Given the description of an element on the screen output the (x, y) to click on. 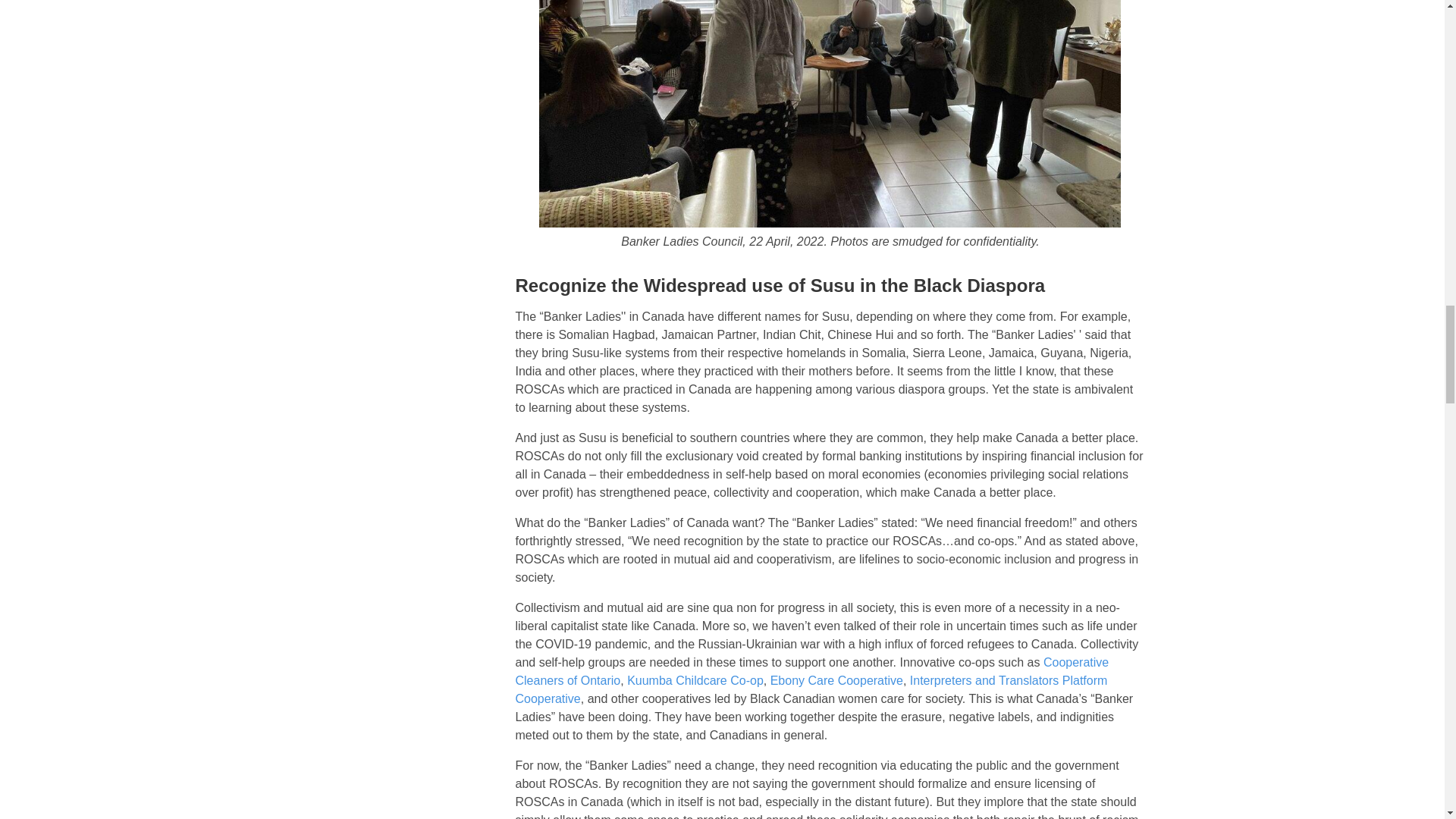
Kuumba Childcare Co-op (694, 680)
Cooperative Cleaners of Ontario (811, 671)
Ebony Care Cooperative (836, 680)
Interpreters and Translators Platform Cooperative (810, 689)
